Given the description of an element on the screen output the (x, y) to click on. 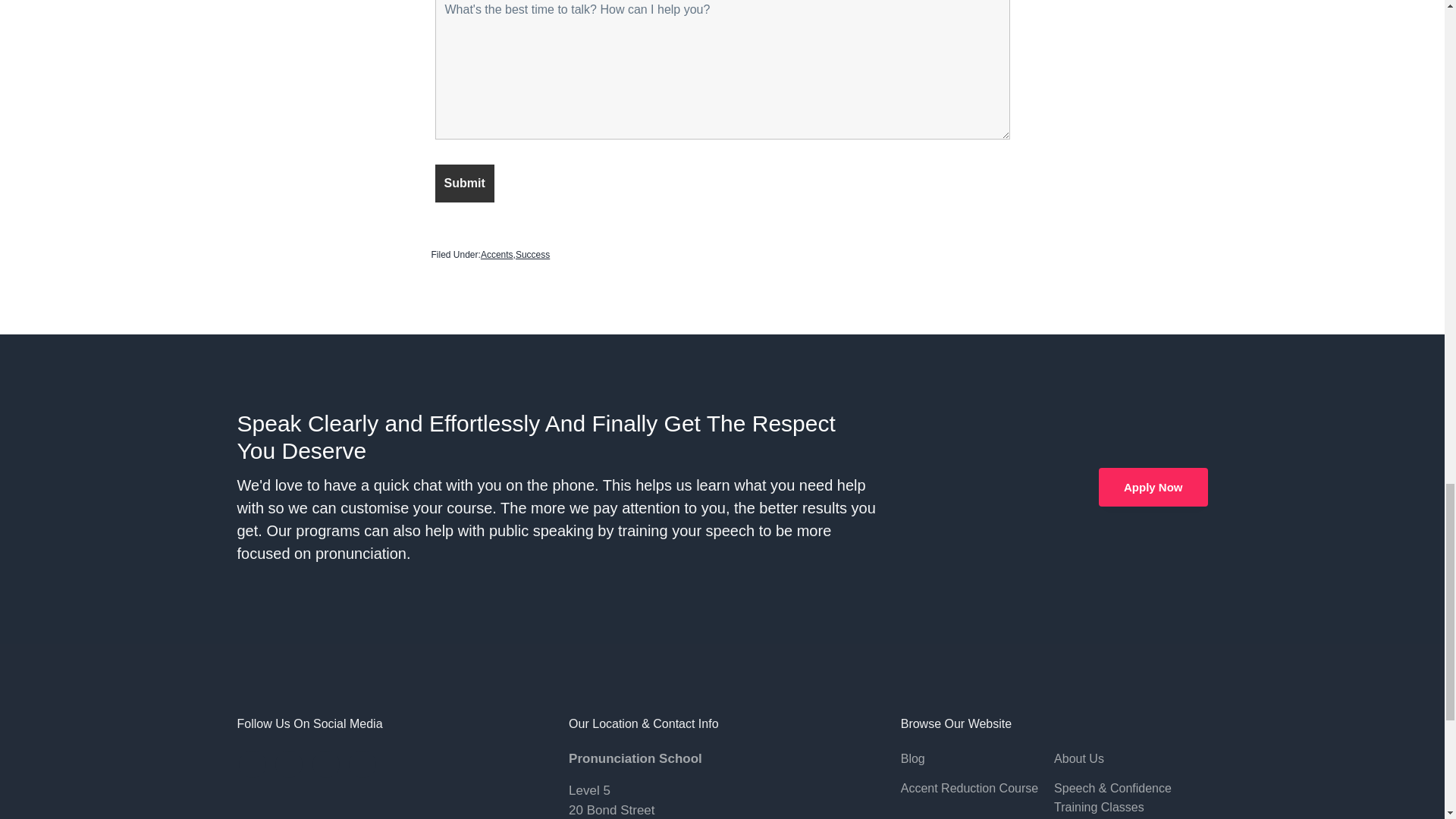
Success (532, 254)
Accent Reduction Course (977, 788)
Accents (496, 254)
Apply Now (1153, 486)
Submit (465, 182)
Blog (977, 759)
Submit (465, 182)
About Us (1130, 759)
